Given the description of an element on the screen output the (x, y) to click on. 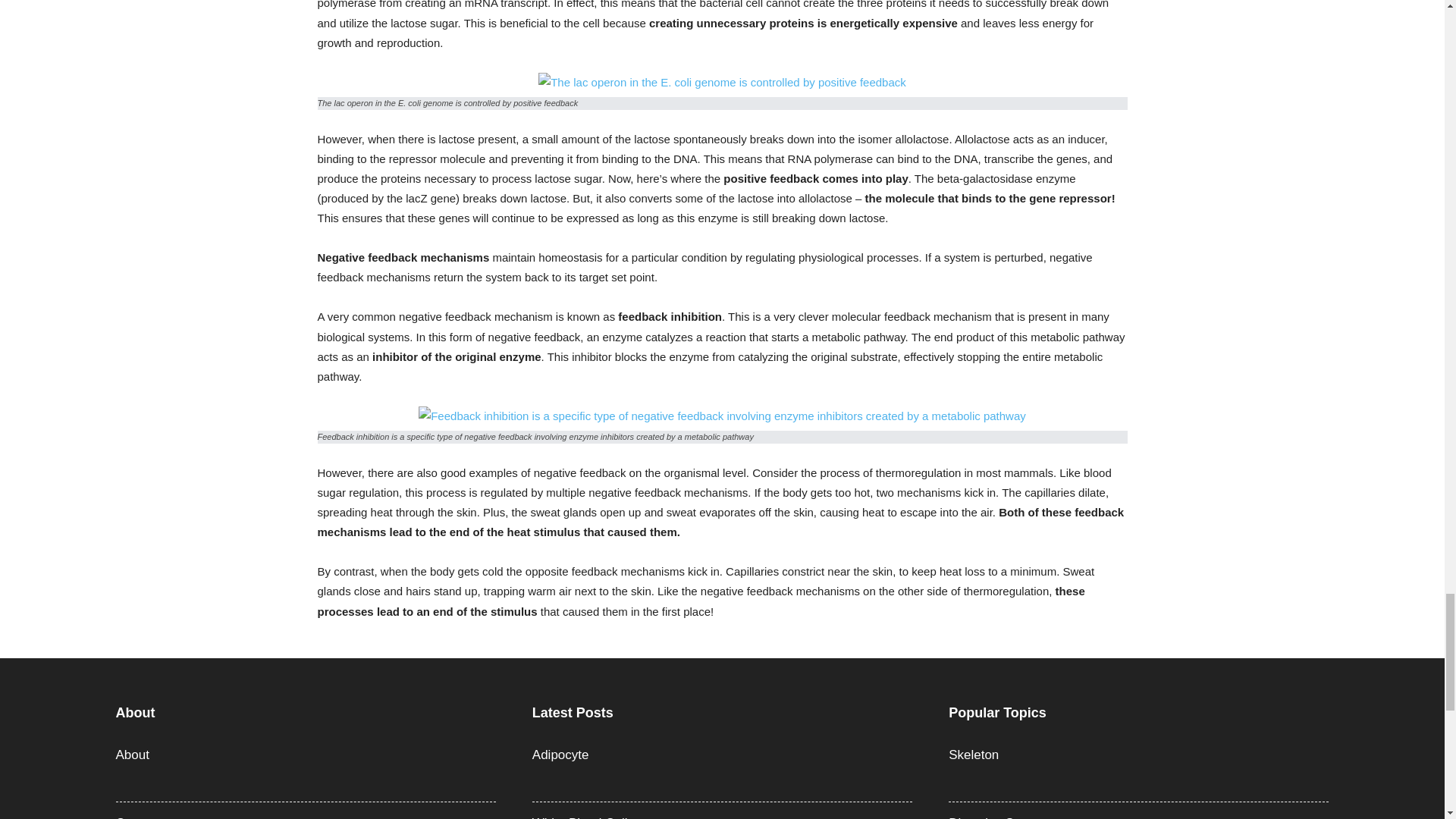
Careers (137, 817)
About (131, 754)
